Given the description of an element on the screen output the (x, y) to click on. 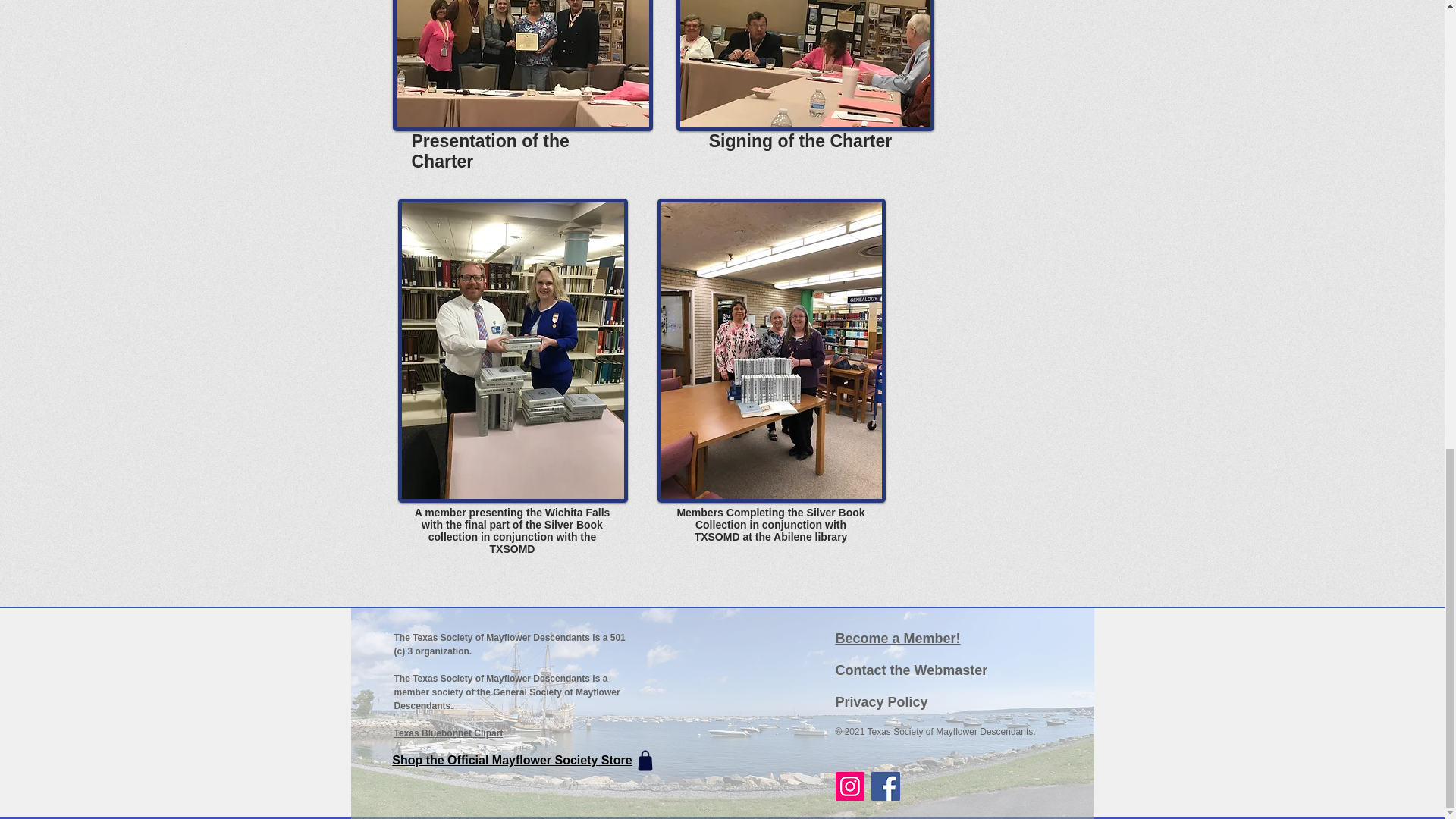
Texas Bluebonnet Clipart (448, 733)
Contact the Webmaster (911, 670)
Privacy Policy (881, 702)
Shop the Official Mayflower Society Store (525, 760)
Become a Member! (897, 638)
